Given the description of an element on the screen output the (x, y) to click on. 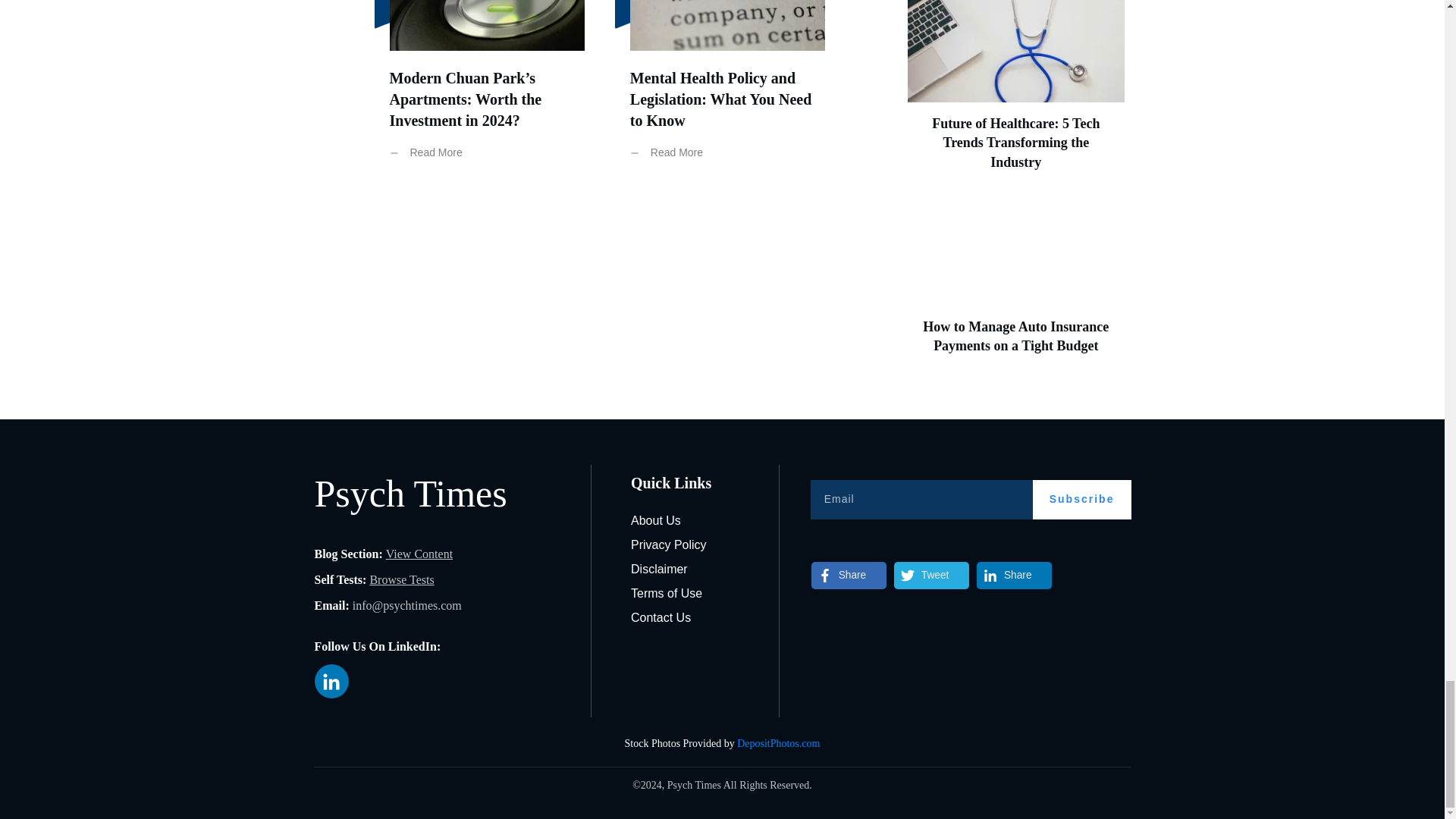
Mental Health Policy and Legislation: What You Need to Know (720, 98)
